Given the description of an element on the screen output the (x, y) to click on. 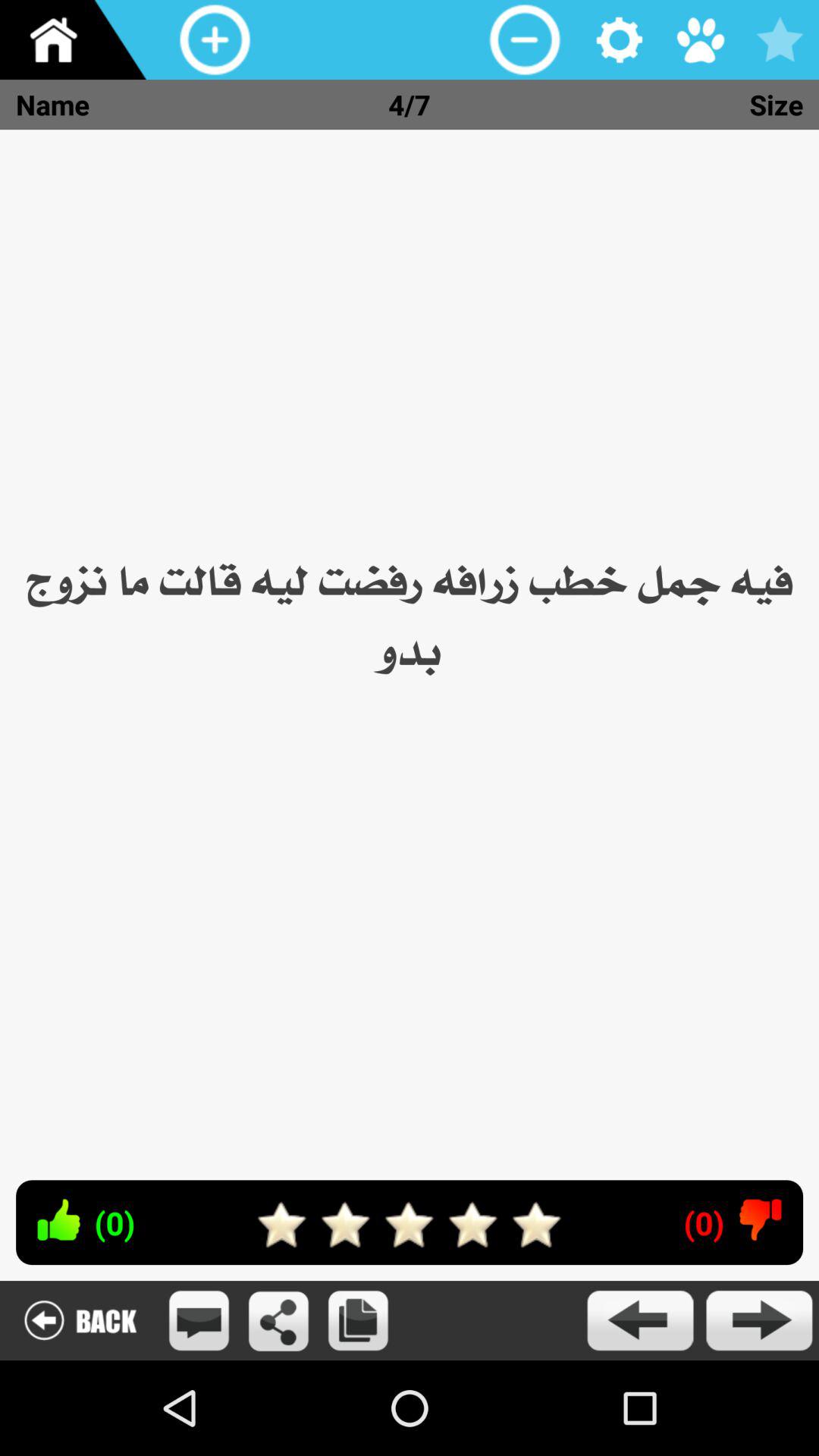
go back (639, 1320)
